Given the description of an element on the screen output the (x, y) to click on. 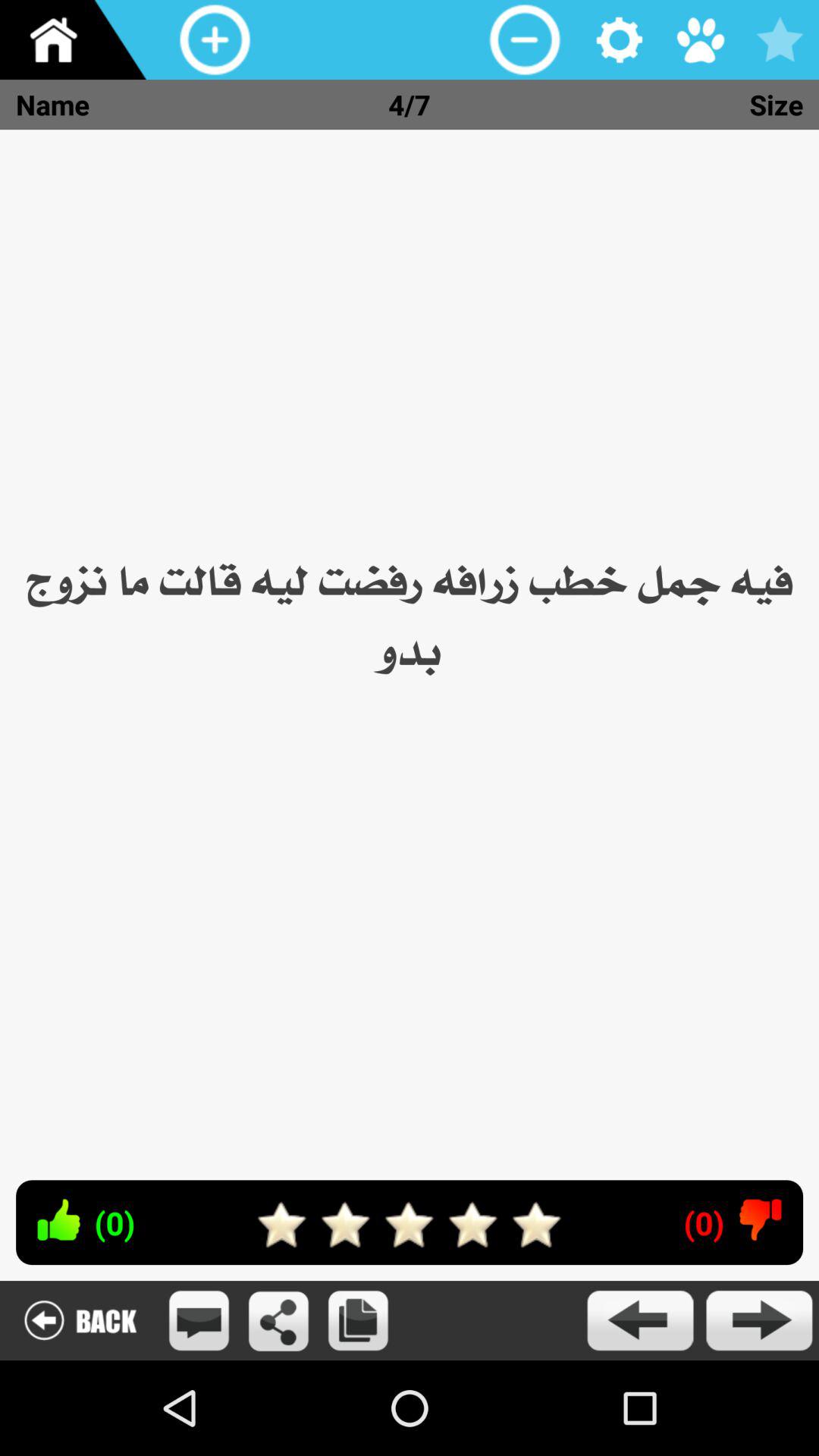
go back (639, 1320)
